Given the description of an element on the screen output the (x, y) to click on. 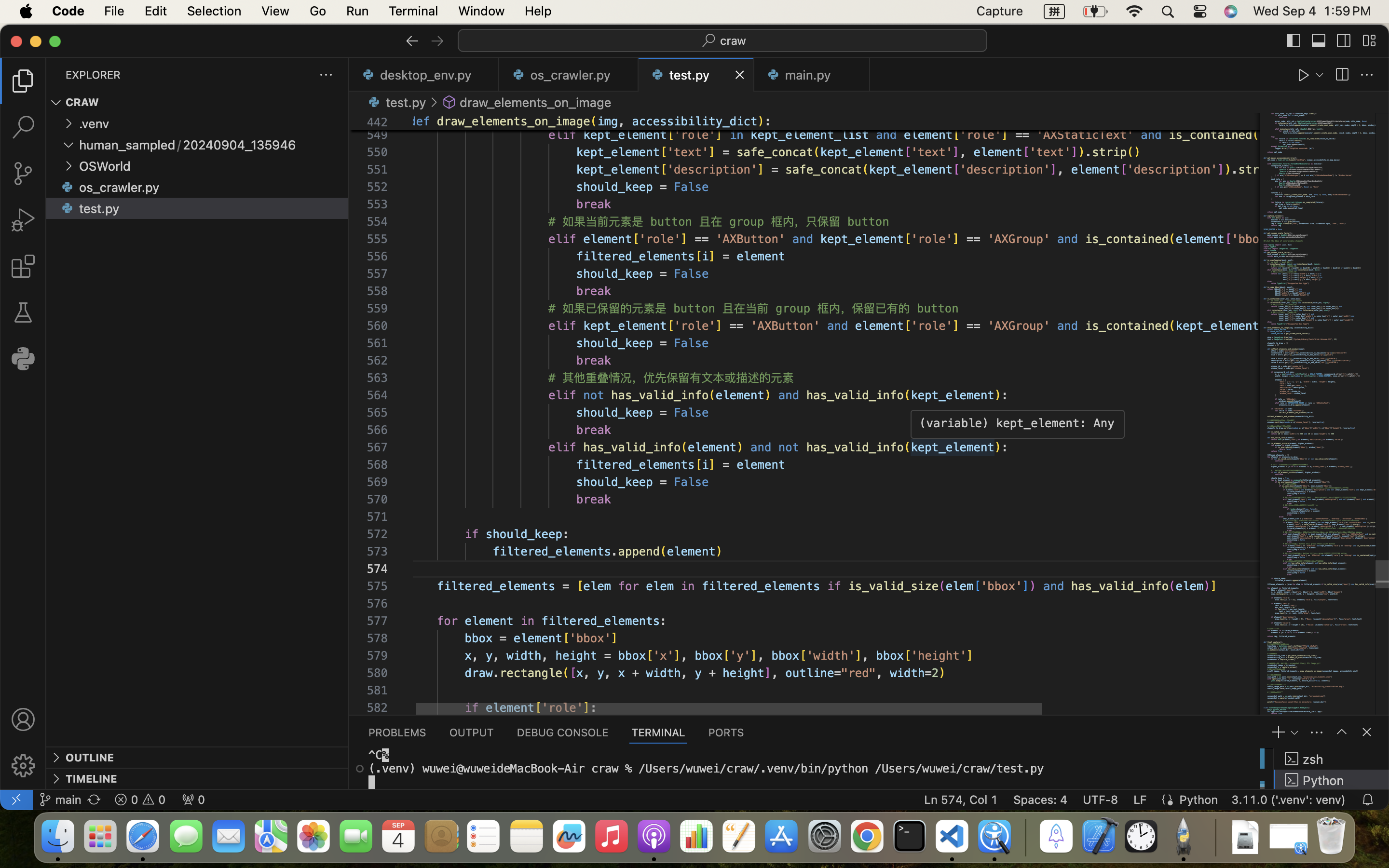
 Element type: AXStaticText (449, 101)
CRAW Element type: AXStaticText (82, 102)
 Element type: AXCheckBox (1318, 40)
craw Element type: AXStaticText (733, 40)
(variable) kept_element: Any Element type: AXGroup (1017, 422)
